Given the description of an element on the screen output the (x, y) to click on. 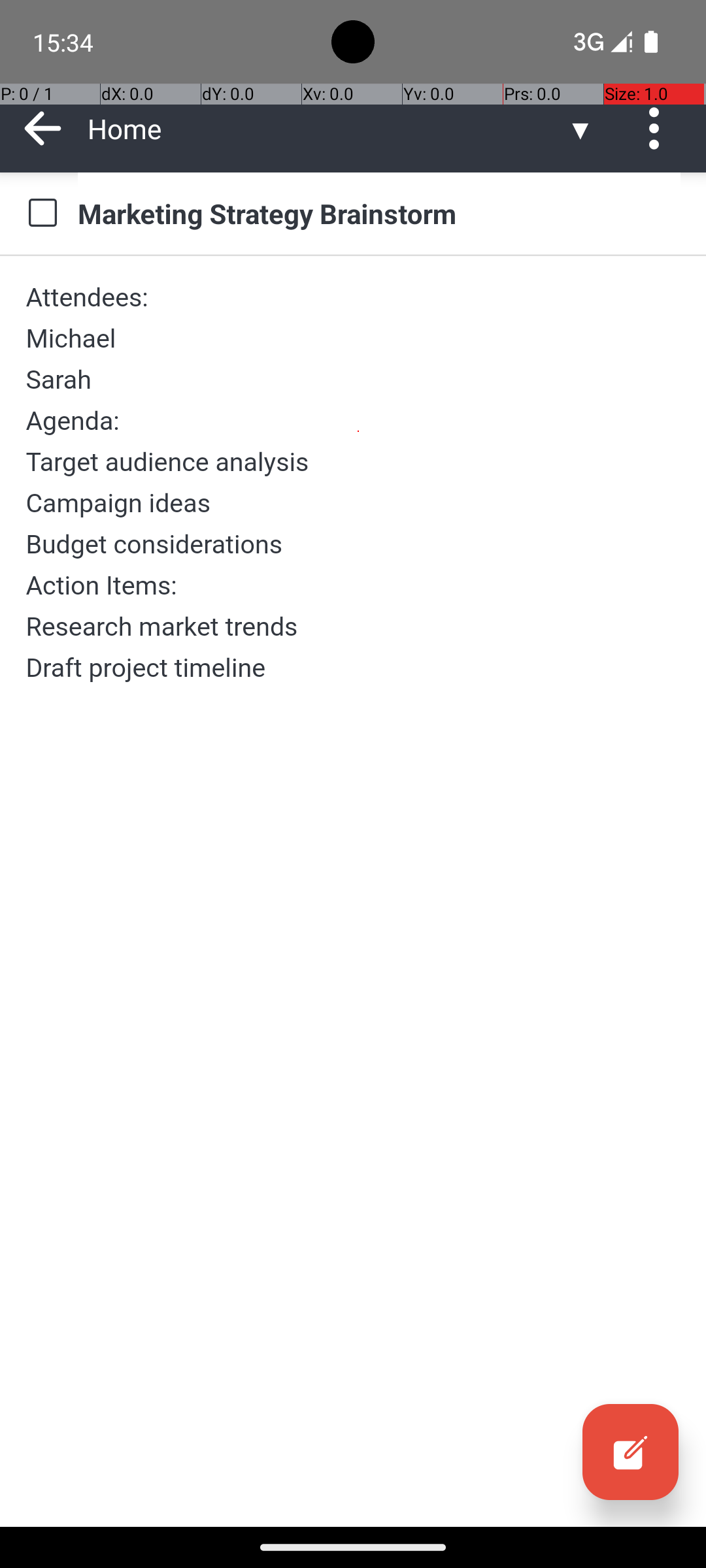
Attendees:
Michael
Sarah
Agenda:
Target audience analysis
Campaign ideas
Budget considerations
Action Items:
Research market trends
Draft project timeline Element type: android.widget.TextView (352, 481)
